Given the description of an element on the screen output the (x, y) to click on. 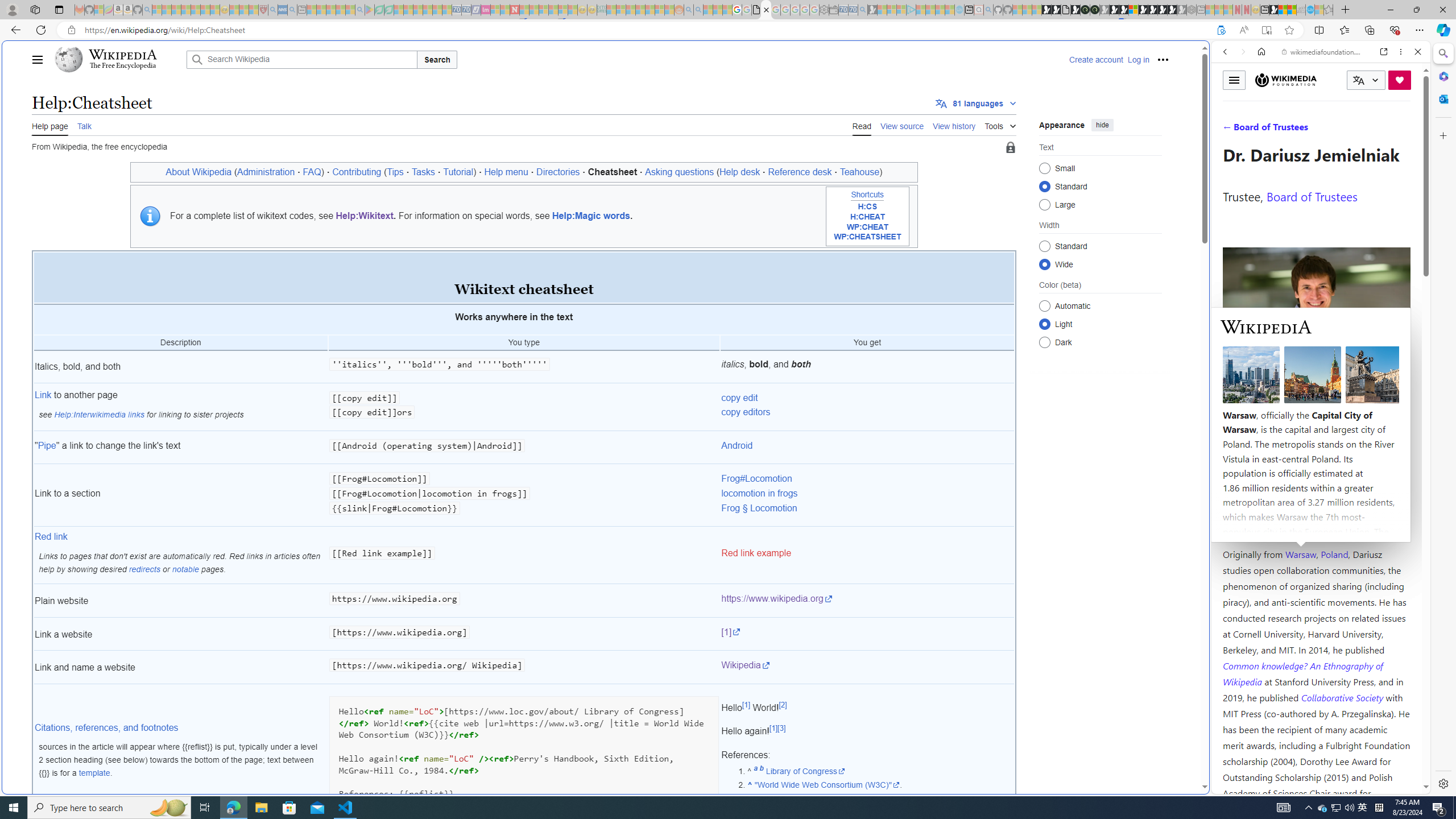
 Wikitext cheatsheet (523, 277)
Standard (1044, 245)
Talk (84, 124)
google - Search - Sleeping (359, 9)
Plain website (180, 600)
